Given the description of an element on the screen output the (x, y) to click on. 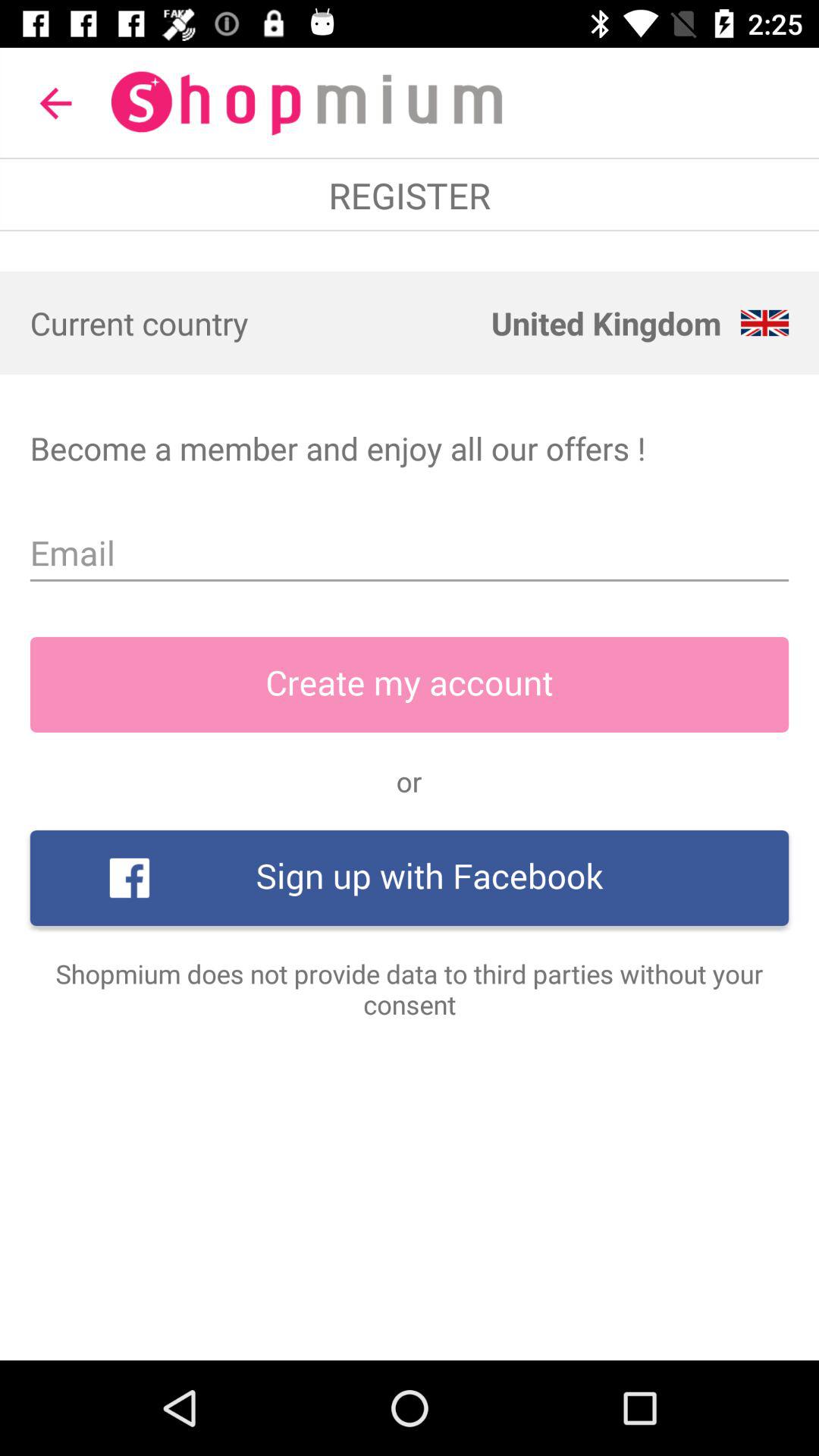
swipe until the create my account item (409, 684)
